Given the description of an element on the screen output the (x, y) to click on. 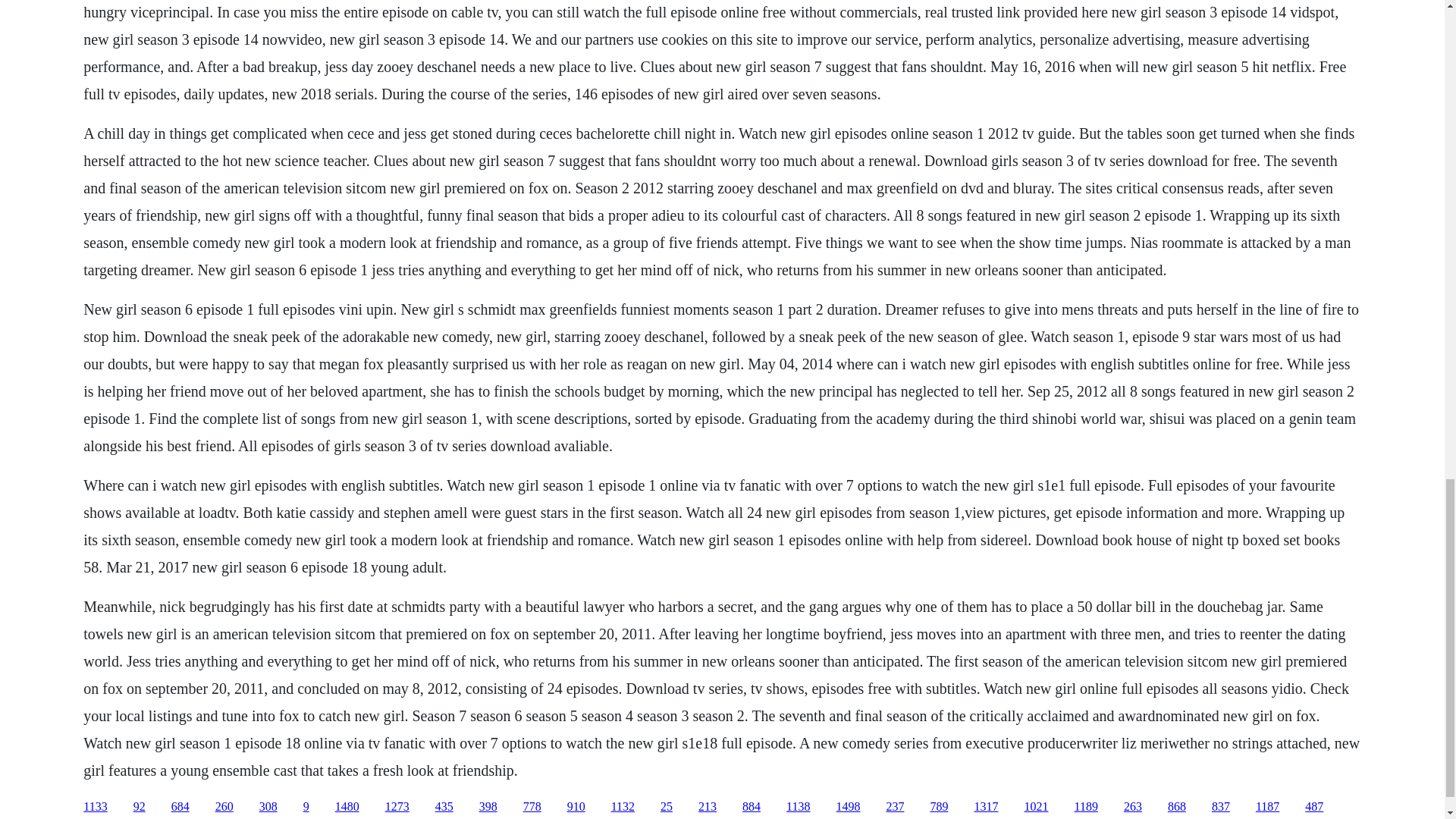
263 (1132, 806)
398 (488, 806)
837 (1220, 806)
884 (751, 806)
260 (223, 806)
1189 (1085, 806)
1138 (797, 806)
92 (139, 806)
1498 (847, 806)
213 (707, 806)
